Given the description of an element on the screen output the (x, y) to click on. 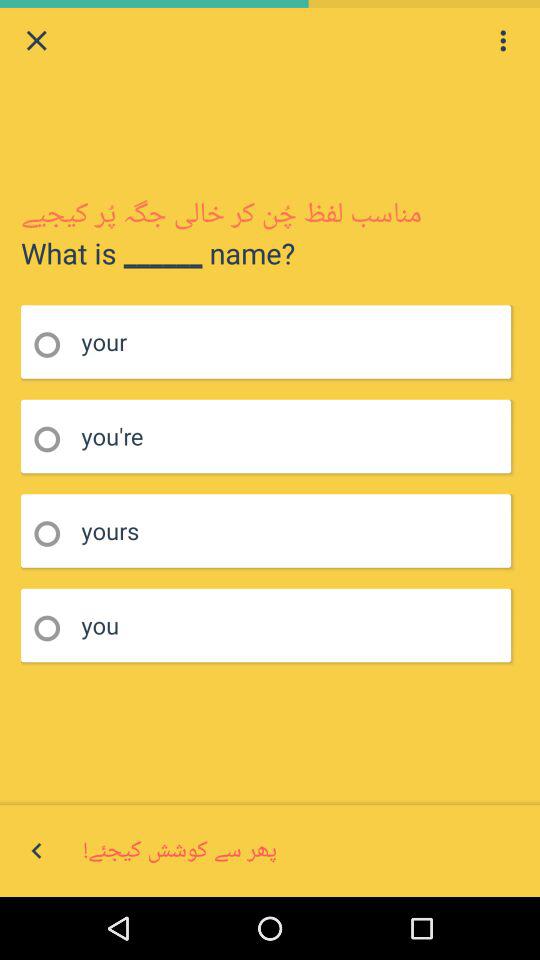
select option (53, 439)
